Given the description of an element on the screen output the (x, y) to click on. 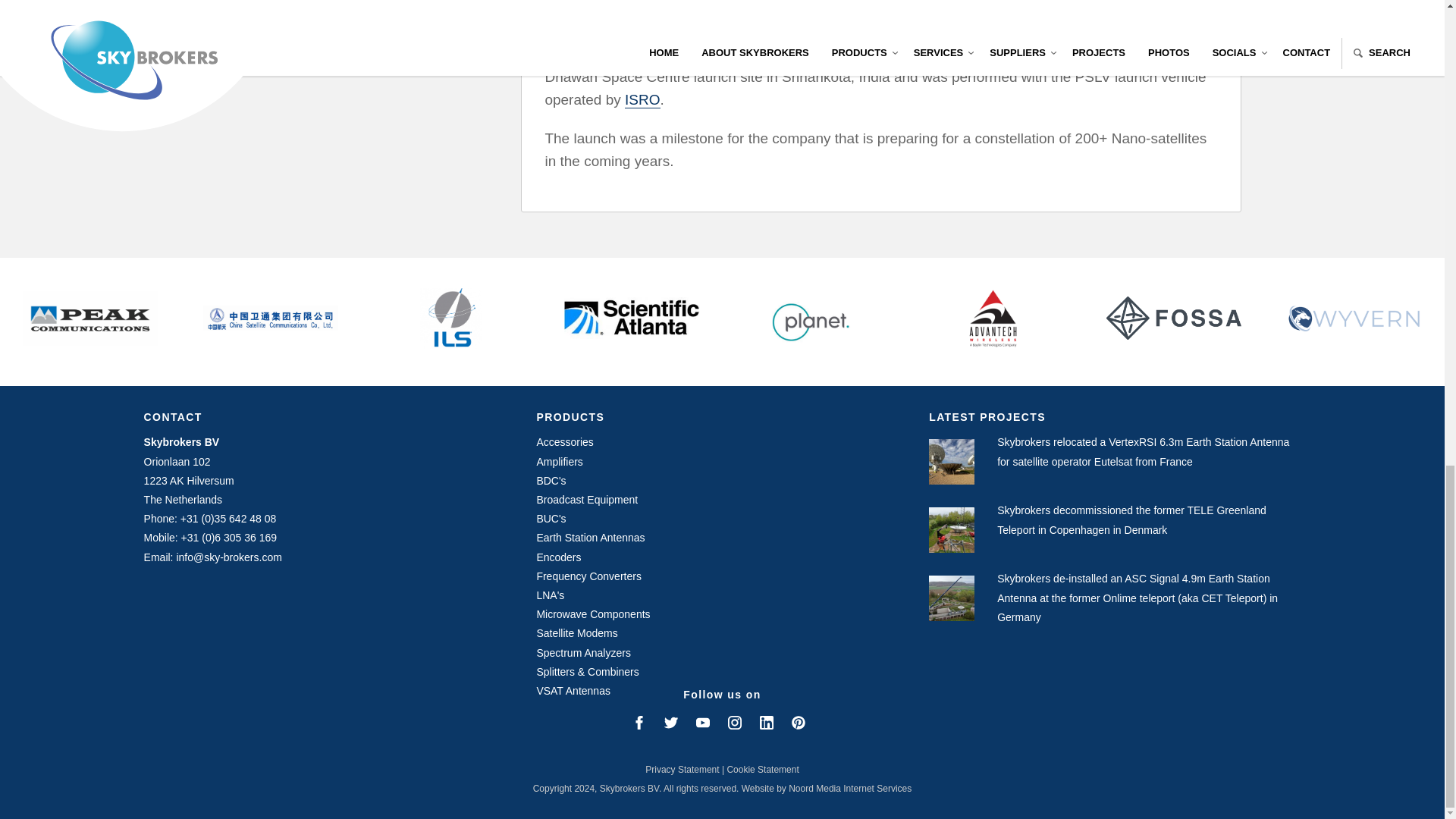
Follow Skybrokers on Instagram (733, 722)
Follow Skybrokers on Twitter (670, 722)
Follow Skybrokers on Youtube (702, 722)
Follow Skybrokers on Facebook (638, 722)
